Given the description of an element on the screen output the (x, y) to click on. 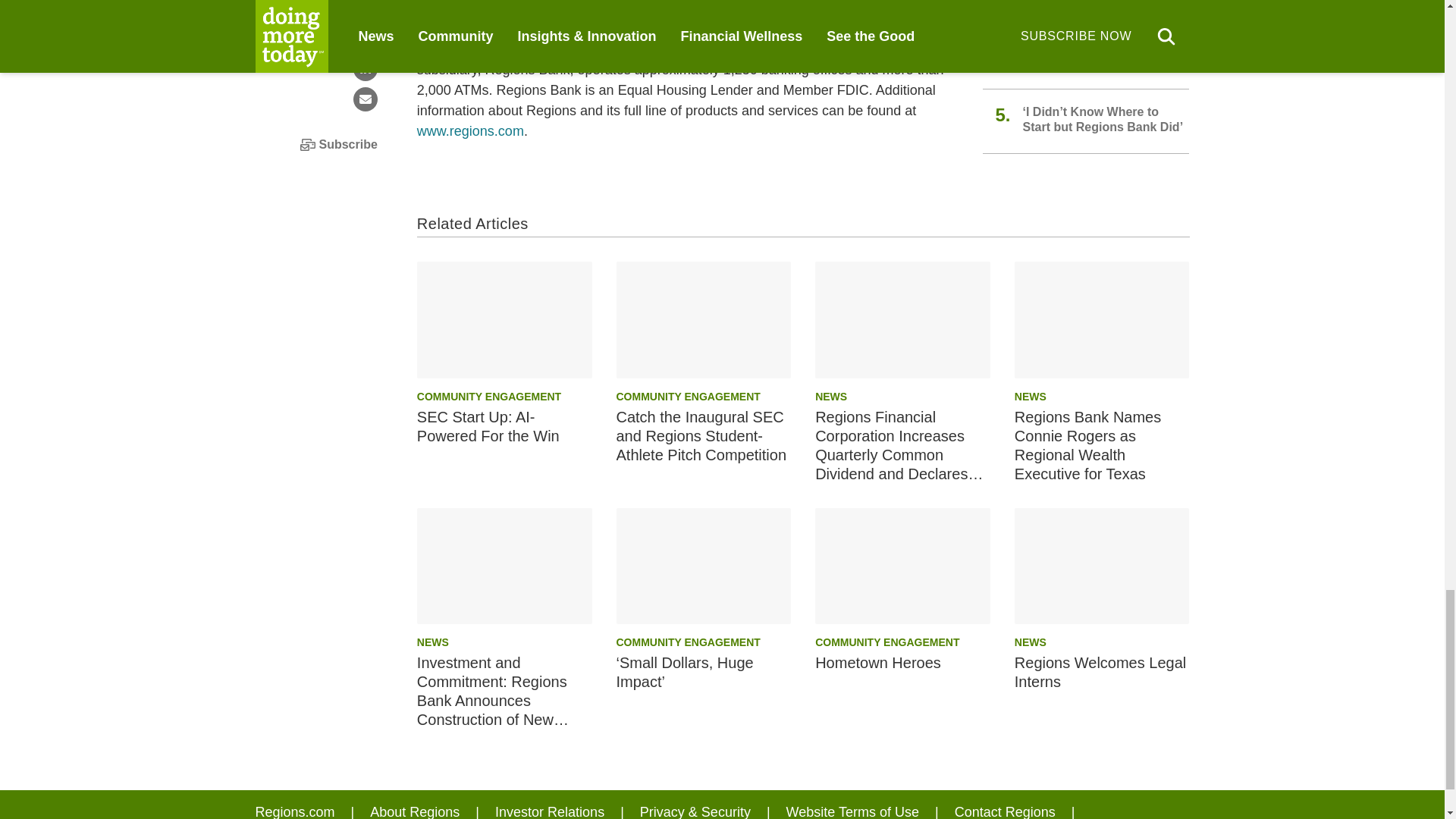
SEC Start Up: AI-Powered For the Win (504, 319)
Hometown Heroes (902, 565)
Regions Welcomes Legal Interns (1101, 565)
